Given the description of an element on the screen output the (x, y) to click on. 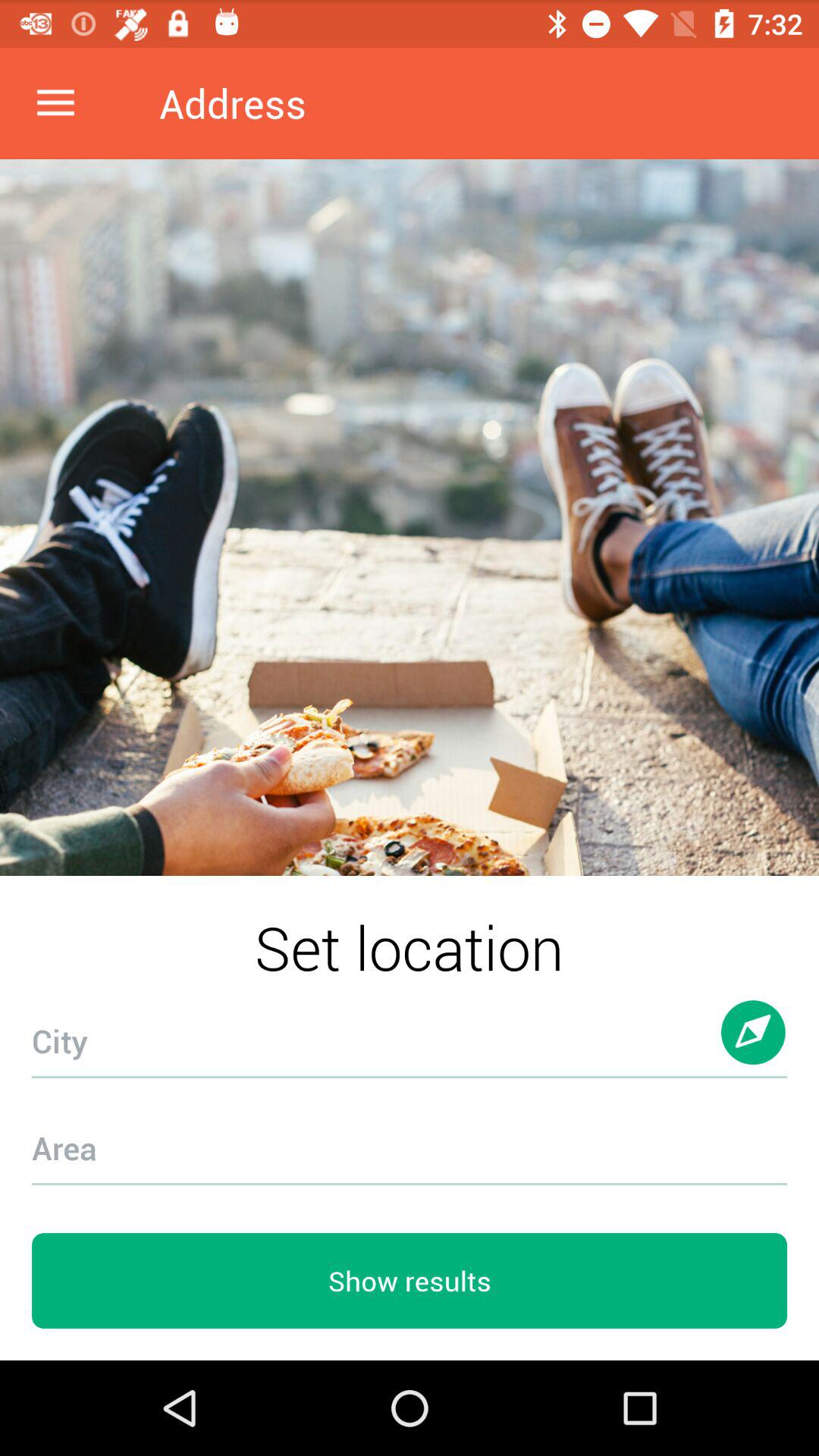
choose icon to the right of the set location icon (754, 1047)
